Given the description of an element on the screen output the (x, y) to click on. 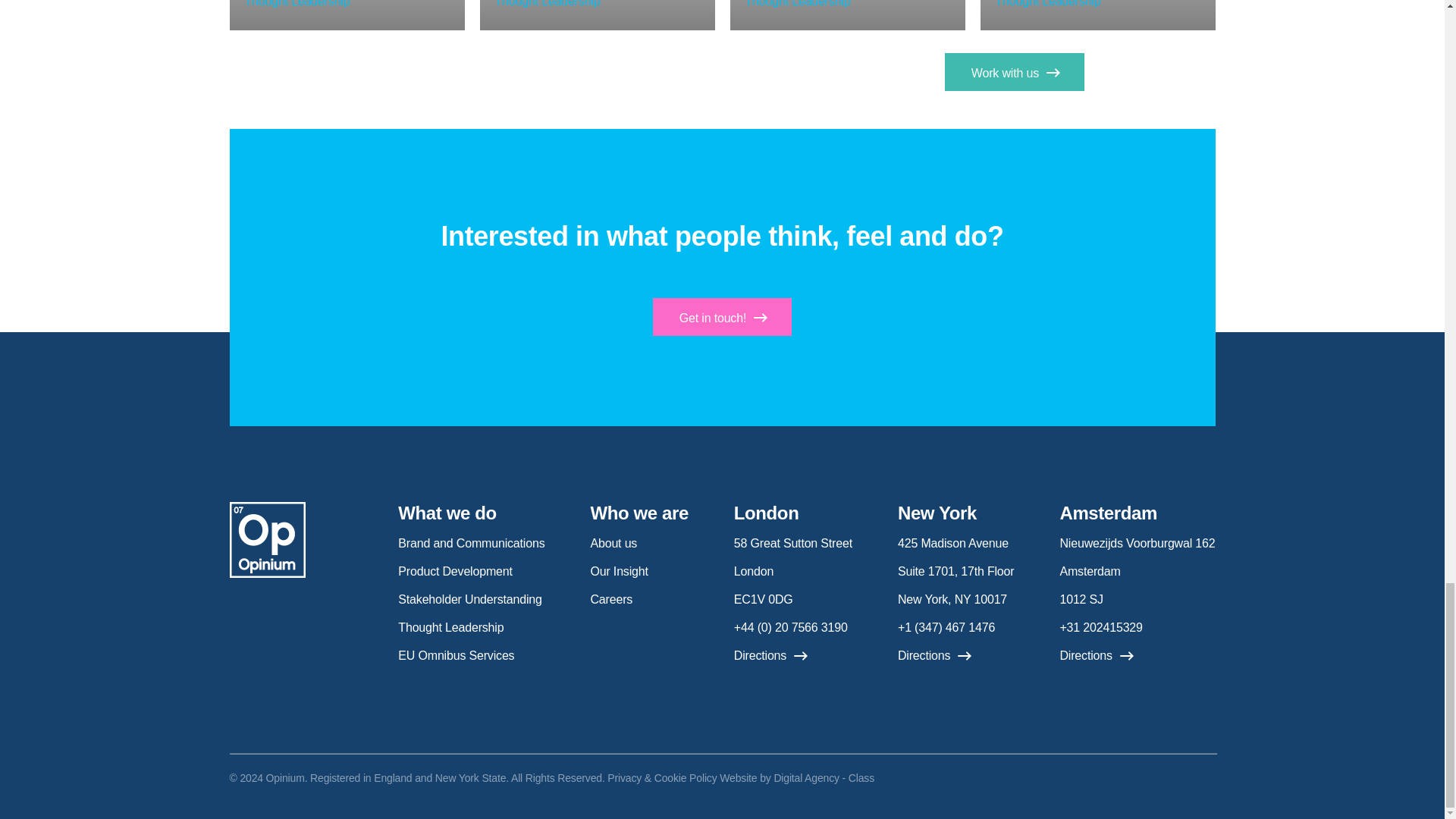
Get in touch! (722, 316)
Thought Leadership (1047, 3)
Thought Leadership (797, 3)
Brand and Communications (470, 543)
What we do (446, 512)
Product Development (454, 571)
Thought Leadership (296, 3)
Thought Leadership (547, 3)
